Given the description of an element on the screen output the (x, y) to click on. 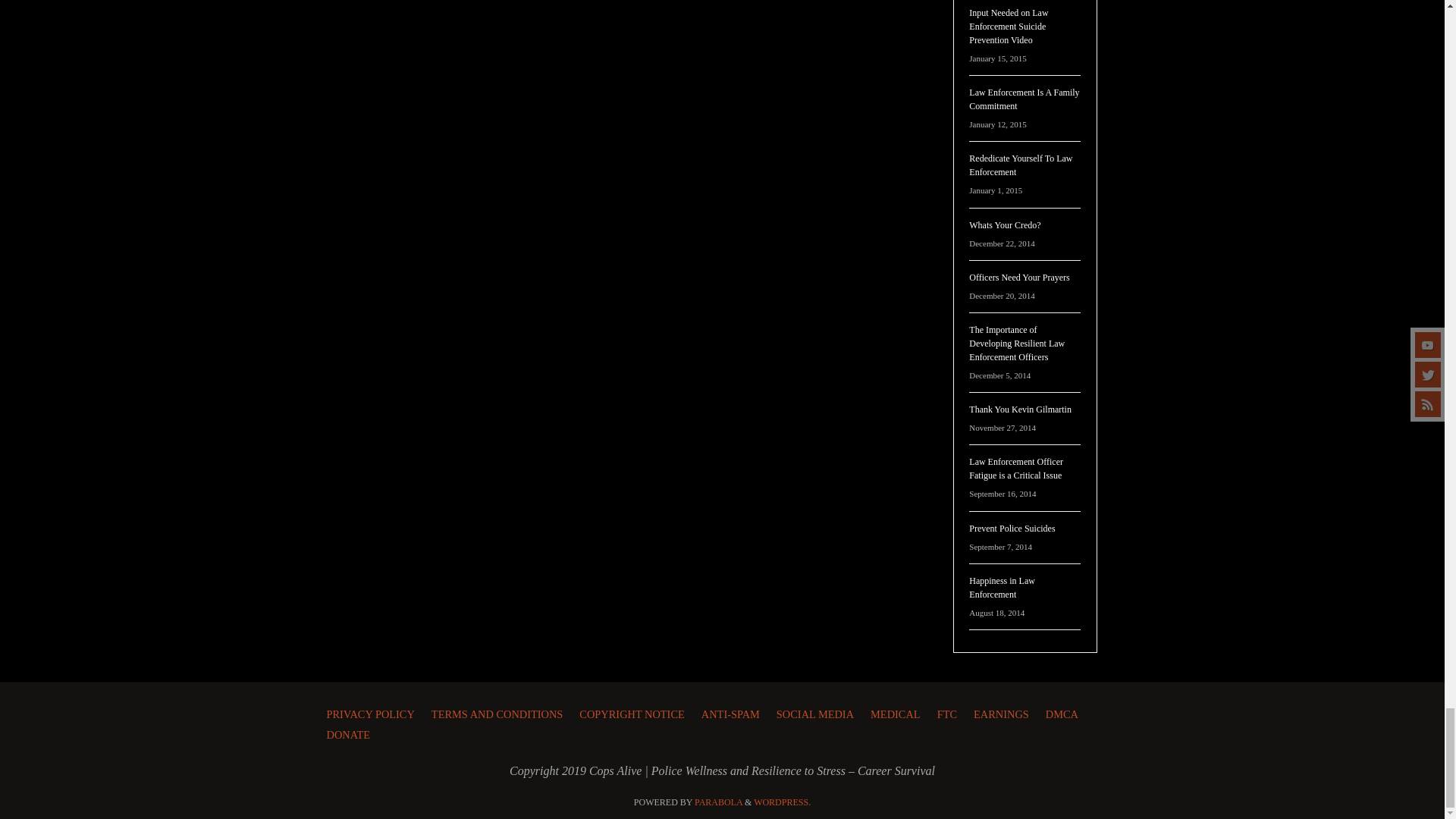
Semantic Personal Publishing Platform (782, 801)
Parabola Theme by Cryout Creations (718, 801)
